Given the description of an element on the screen output the (x, y) to click on. 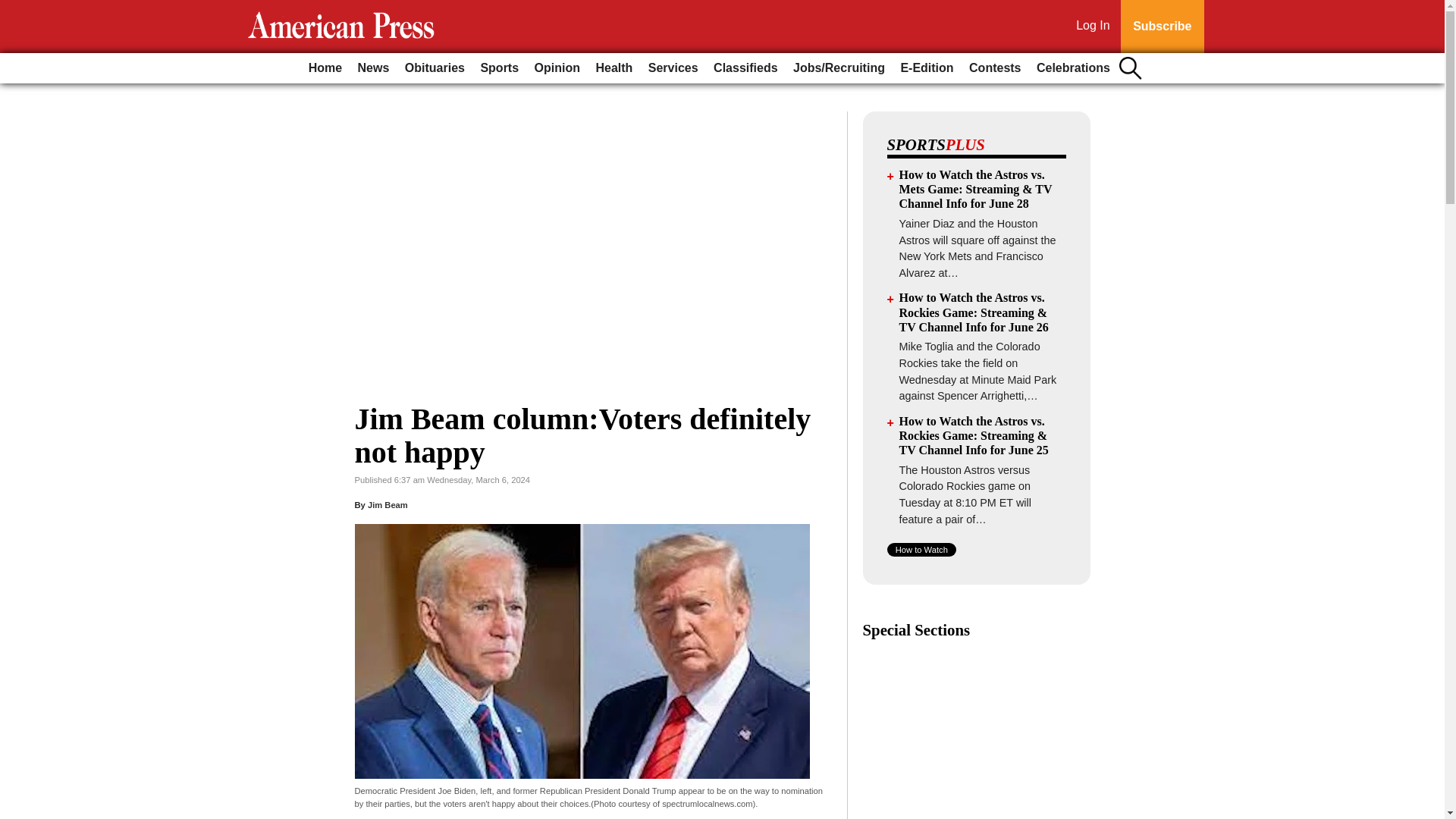
Jim Beam (387, 504)
Sports (499, 68)
News (374, 68)
Obituaries (434, 68)
Subscribe (1162, 26)
Celebrations (1073, 68)
Contests (994, 68)
Classifieds (745, 68)
Go (13, 9)
E-Edition (926, 68)
Log In (1095, 26)
Opinion (557, 68)
Health (614, 68)
Services (673, 68)
Home (324, 68)
